Given the description of an element on the screen output the (x, y) to click on. 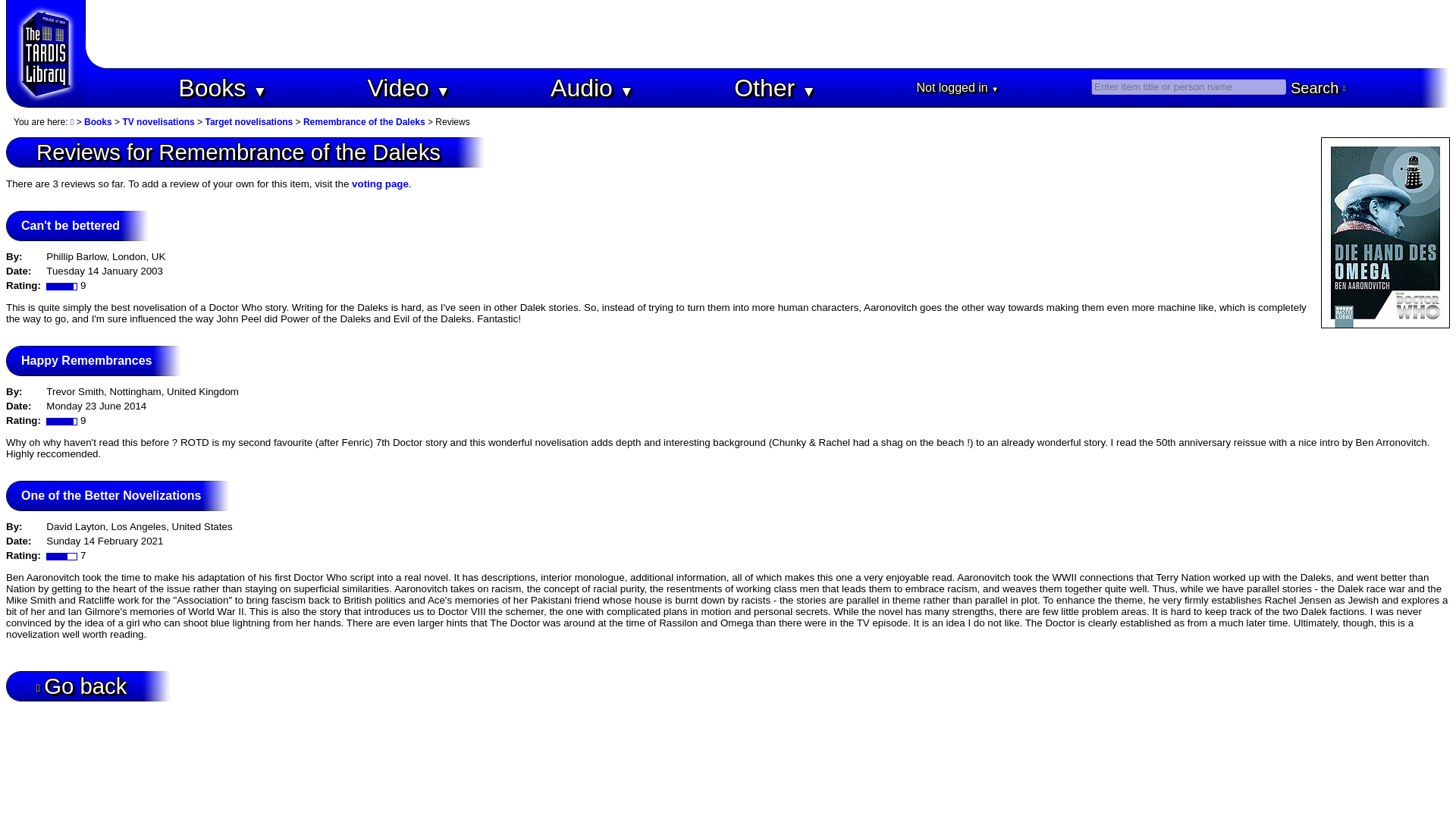
Go back to Remembrance of the Daleks (81, 685)
Advertisement (767, 33)
Search (1318, 87)
